Given the description of an element on the screen output the (x, y) to click on. 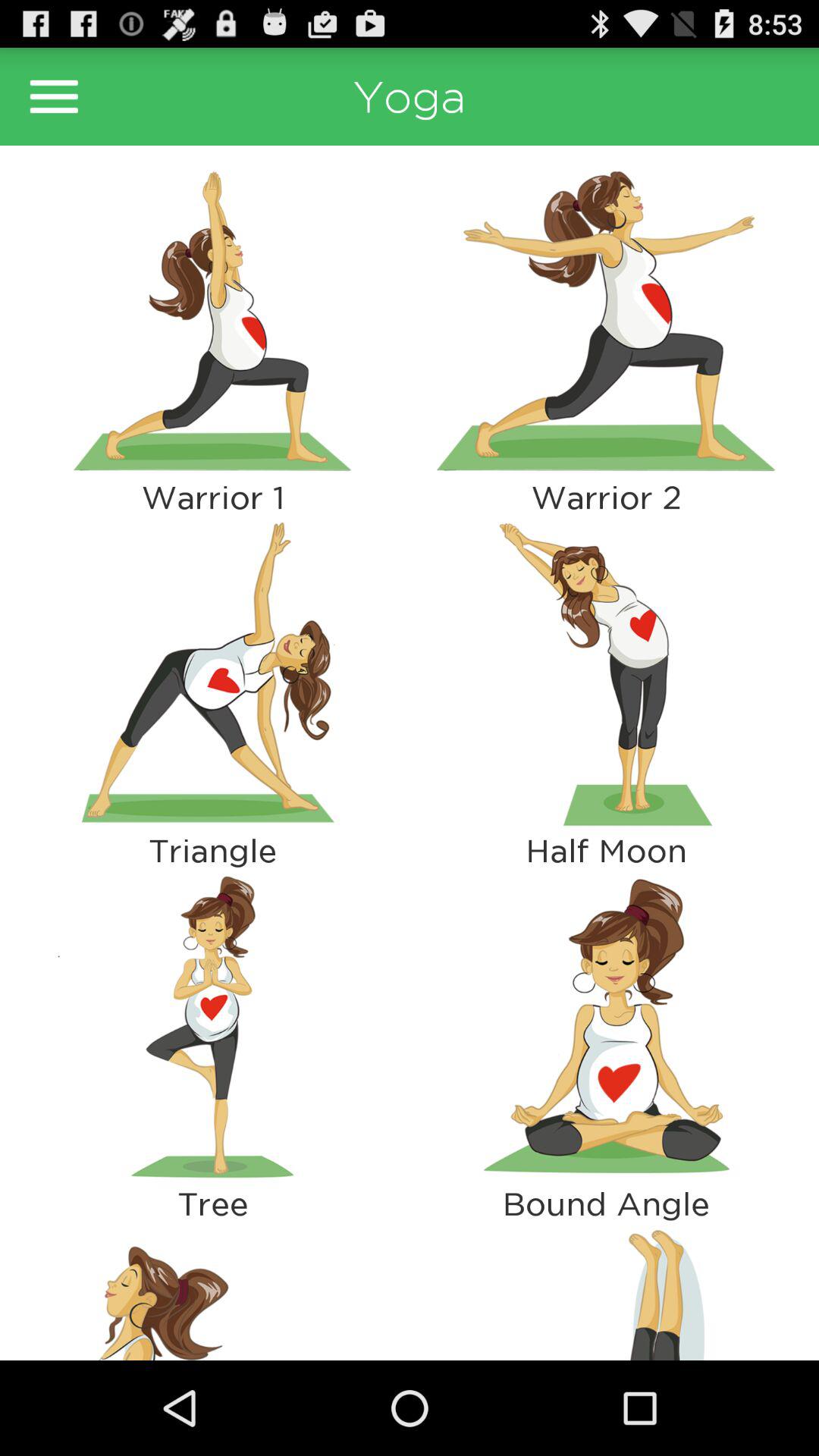
choose app to the left of the yoga item (53, 96)
